Given the description of an element on the screen output the (x, y) to click on. 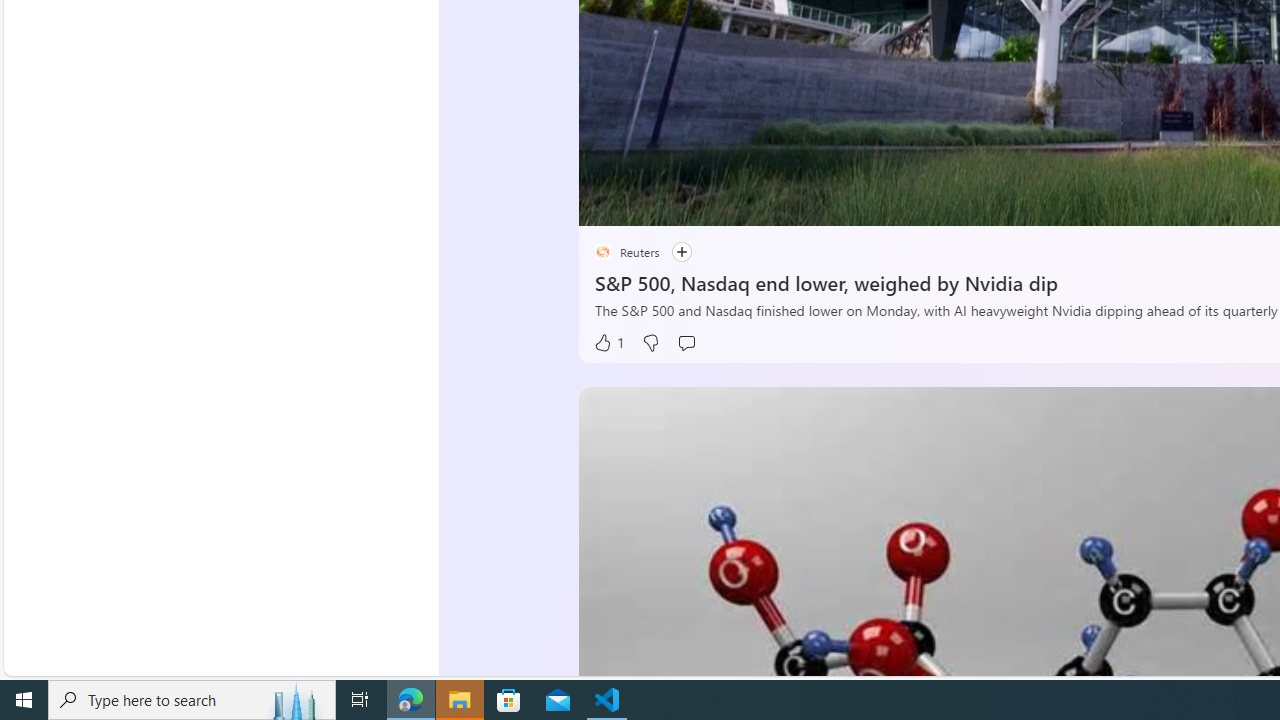
Follow (671, 251)
placeholder Reuters (626, 252)
Seek Forward (688, 203)
Pause (607, 203)
1 Like (608, 343)
Seek Back (648, 203)
placeholder (601, 252)
